Given the description of an element on the screen output the (x, y) to click on. 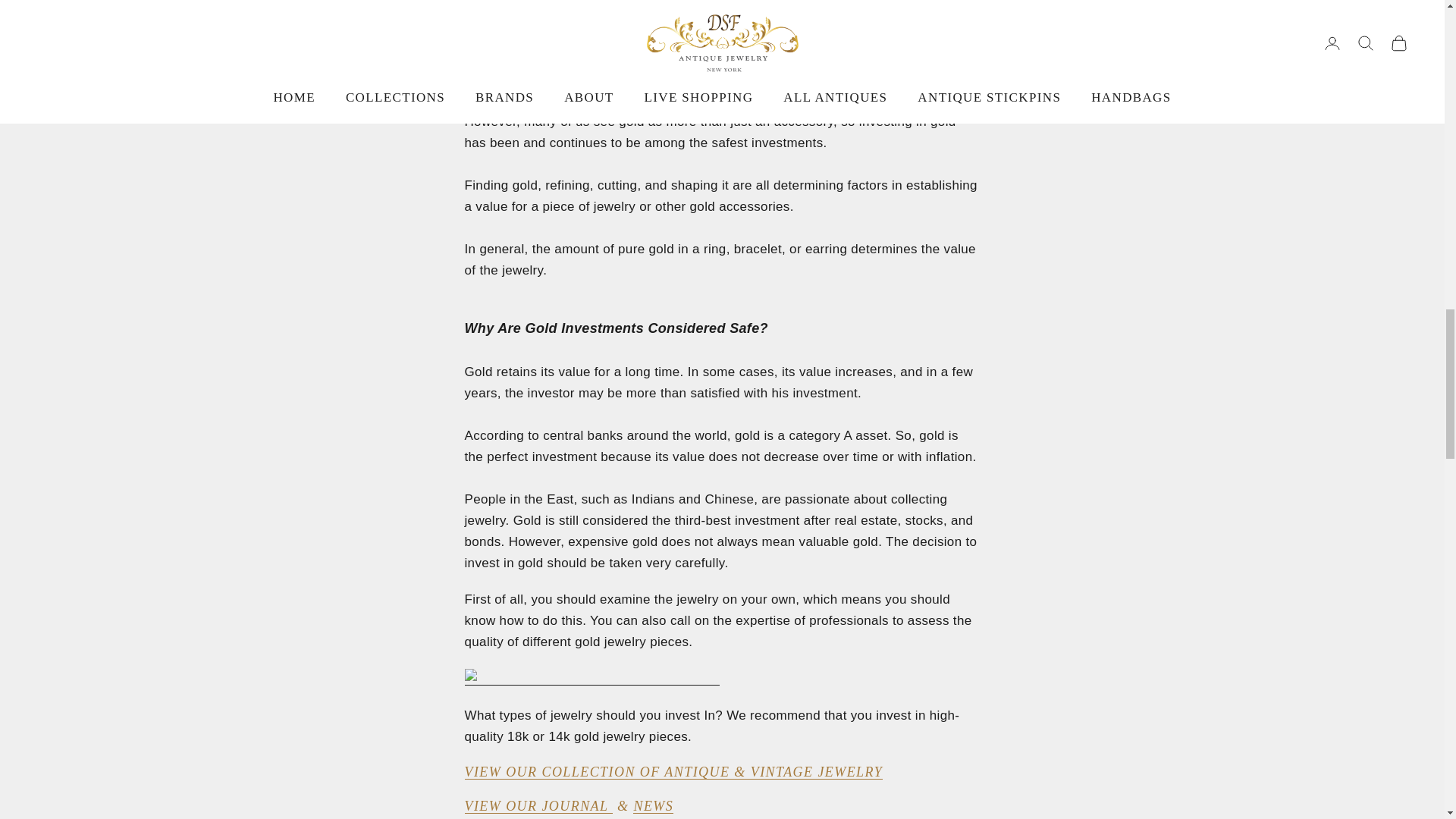
wide-18k-yellow-gold-link-bracelet (555, 99)
gold-long-chain-sautoir-necklace (591, 677)
antique vintage jewelry  (673, 771)
